Given the description of an element on the screen output the (x, y) to click on. 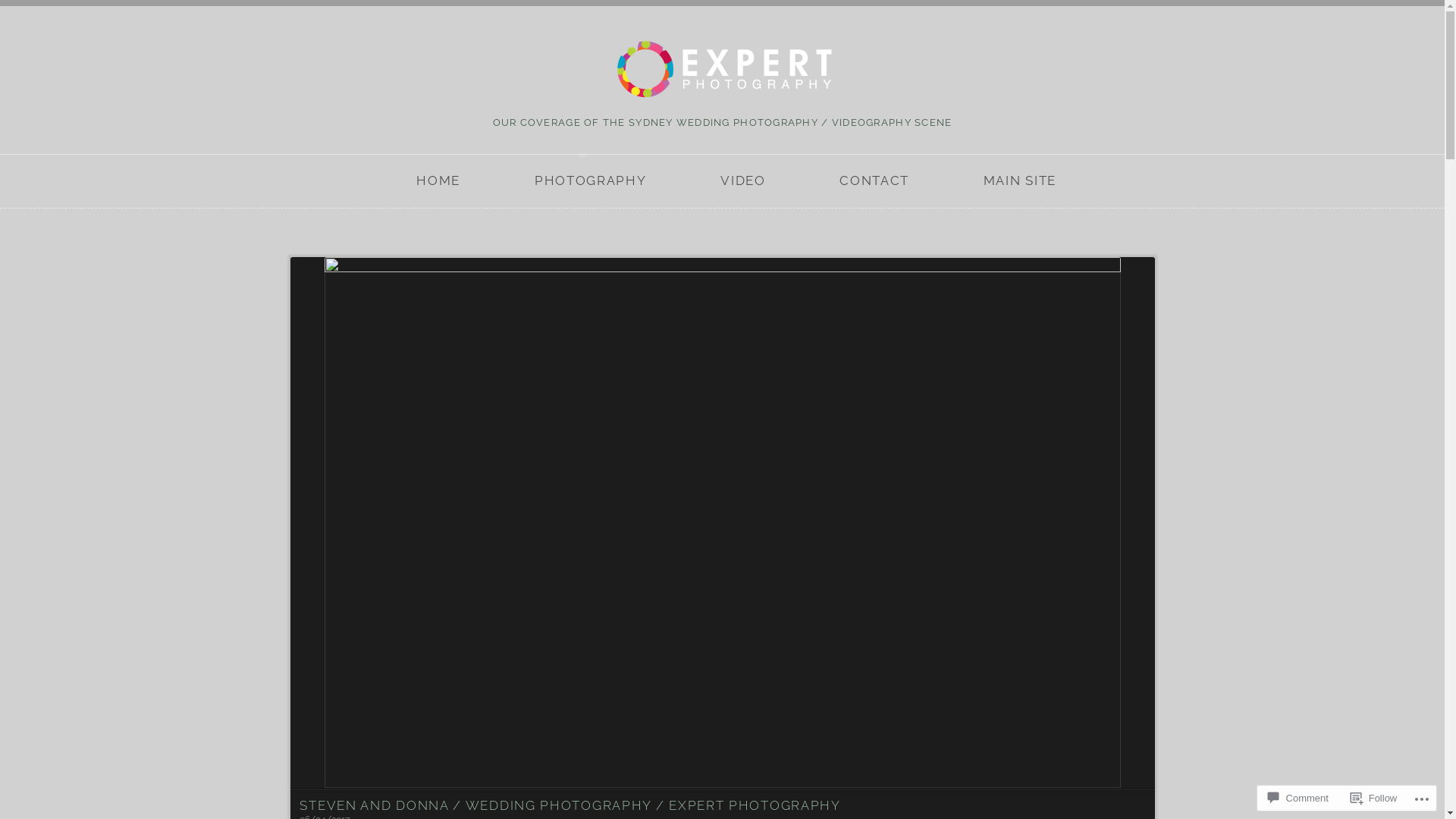
CONTACT Element type: text (874, 180)
Follow Element type: text (1373, 797)
VIDEO Element type: text (743, 180)
MAIN SITE Element type: text (1019, 180)
Comment Element type: text (1297, 797)
PHOTOGRAPHY Element type: text (589, 180)
HOME Element type: text (438, 180)
Home Element type: hover (722, 67)
